Given the description of an element on the screen output the (x, y) to click on. 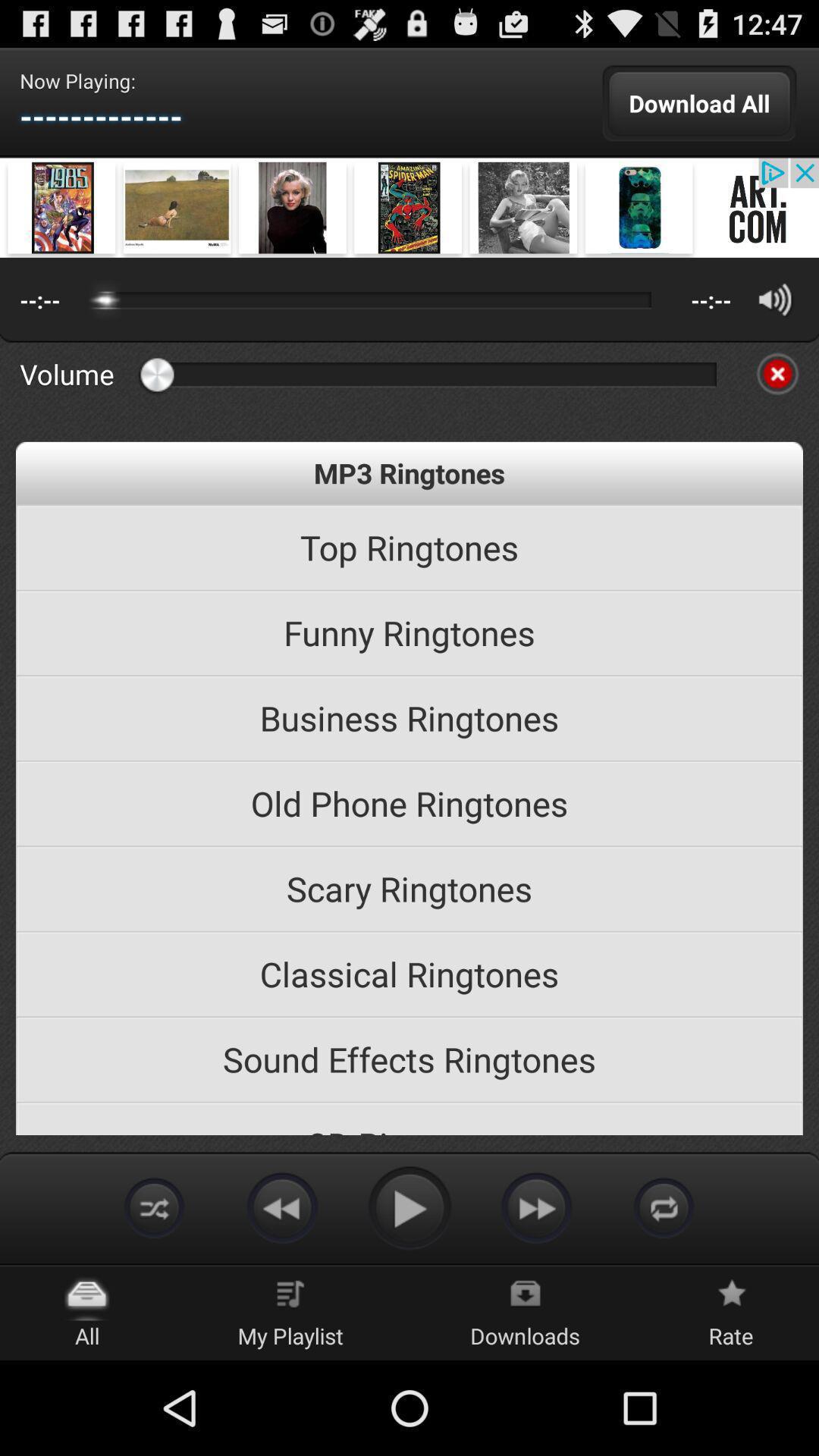
play (409, 1207)
